Given the description of an element on the screen output the (x, y) to click on. 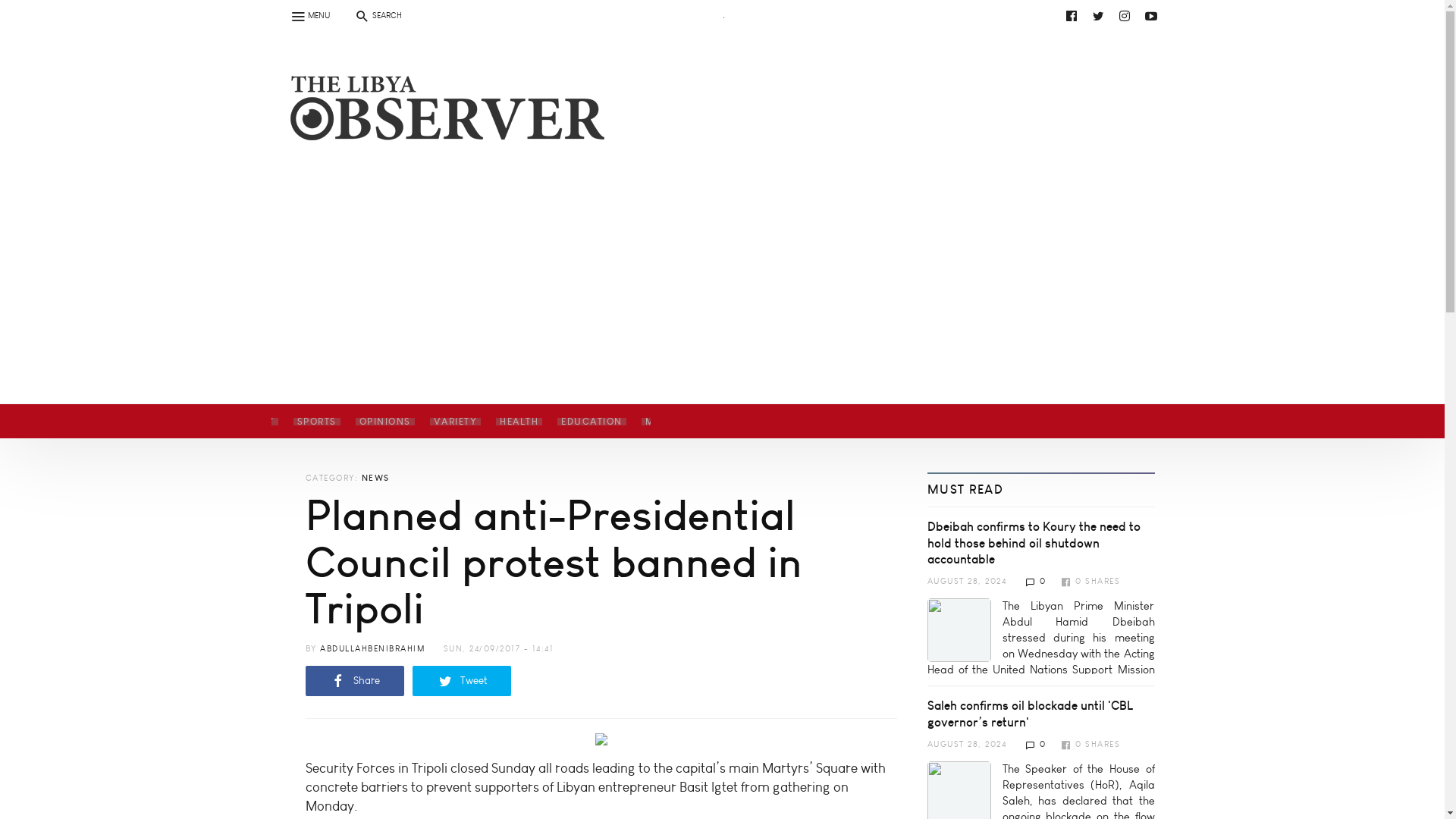
youtube (736, 14)
EDUCATION (591, 421)
OPINIONS (384, 421)
youtube (1150, 14)
SPORTS (316, 421)
SEARCH (377, 15)
MULTIMEDIA (677, 421)
HEALTH (518, 421)
ECONOMY (246, 421)
twitter (1097, 14)
